Given the description of an element on the screen output the (x, y) to click on. 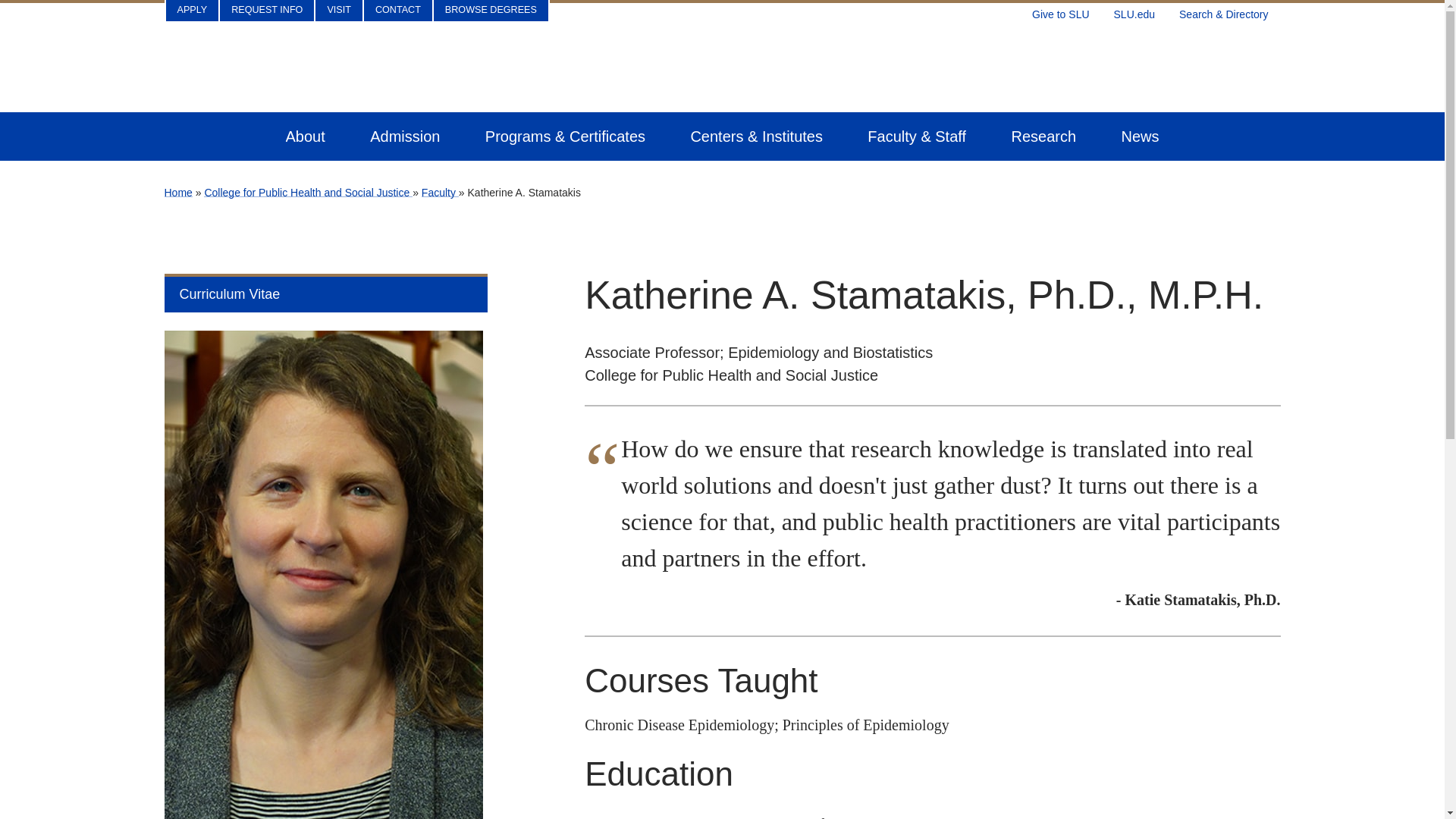
Request Information from Saint Louis University (266, 10)
Home (177, 192)
Public Health Research (1042, 135)
Contact Saint Louis University (398, 10)
About (304, 135)
Give to SLU (1060, 10)
VISIT (338, 10)
News (1139, 135)
Public Health About (304, 135)
